Given the description of an element on the screen output the (x, y) to click on. 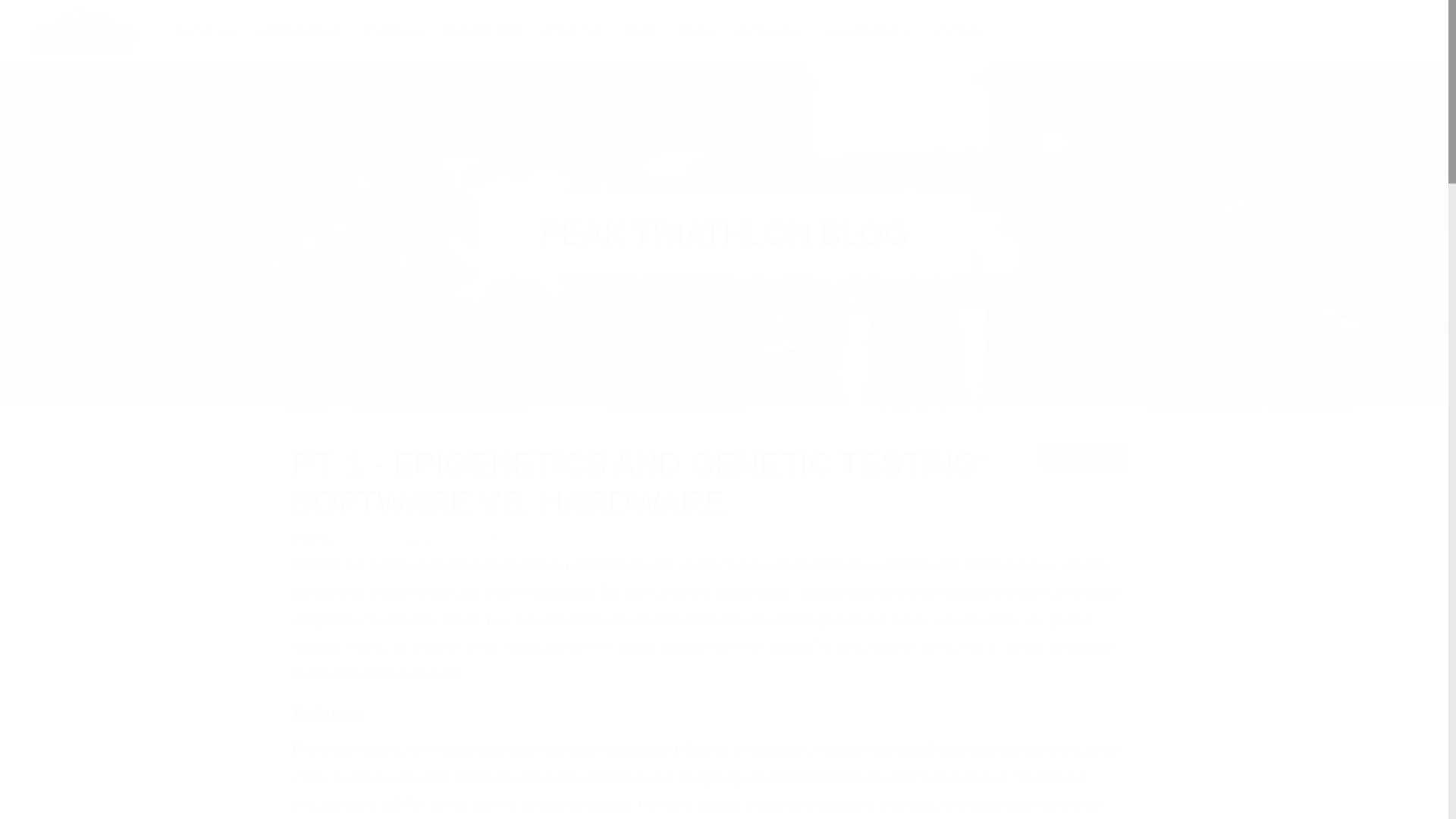
PODCAST (572, 30)
SUBSCRIBE (1083, 457)
TESTIMONIALS (868, 30)
SWIM CENTER (298, 30)
SERVICES (204, 30)
GEAR (695, 30)
CONTACT (963, 30)
Trent's Blog (453, 539)
SPONSORS (768, 30)
PHILOSOPHY (482, 30)
